Given the description of an element on the screen output the (x, y) to click on. 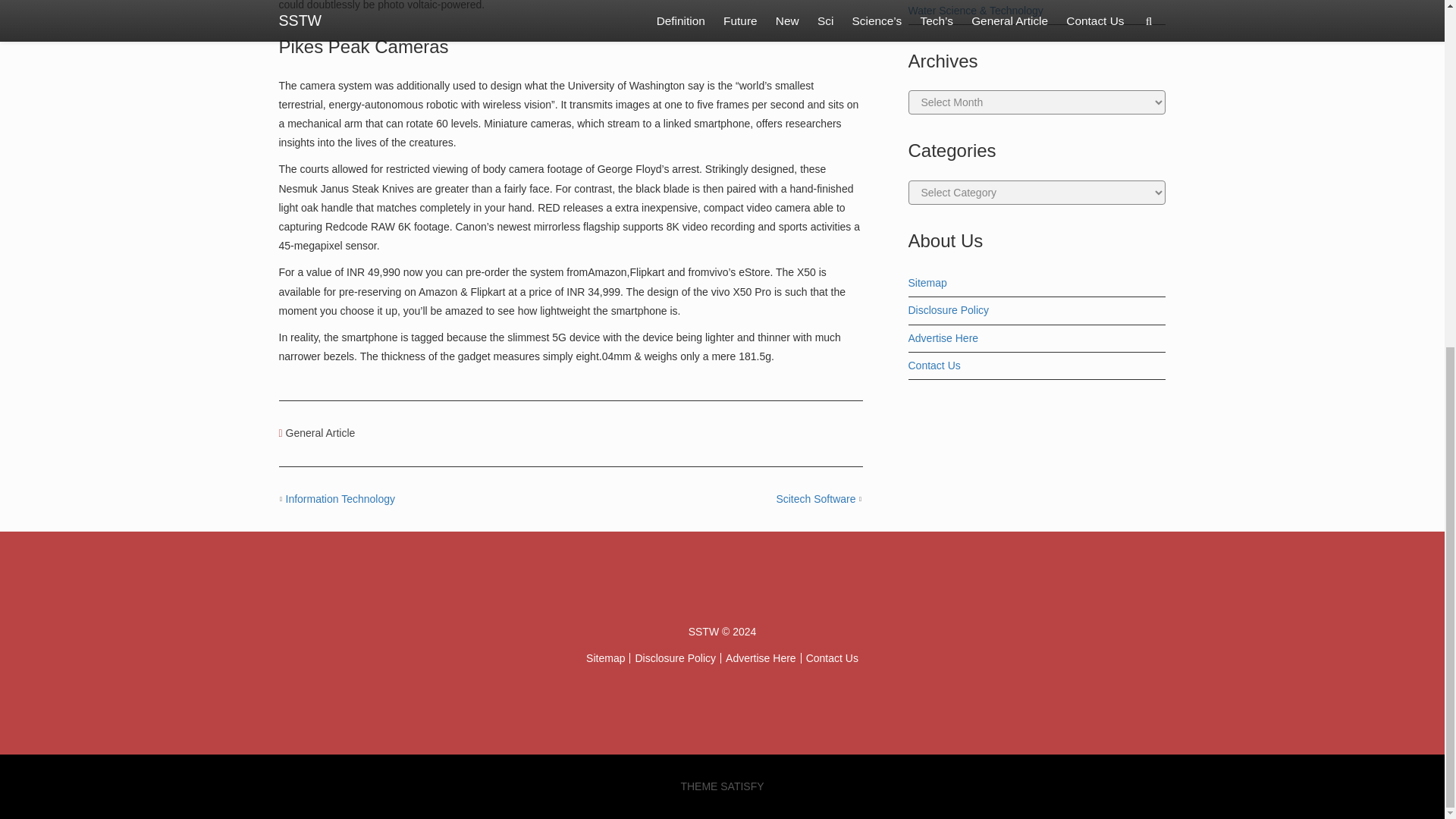
Scitech Software (816, 499)
Information Technology (340, 499)
General Article (320, 432)
